Given the description of an element on the screen output the (x, y) to click on. 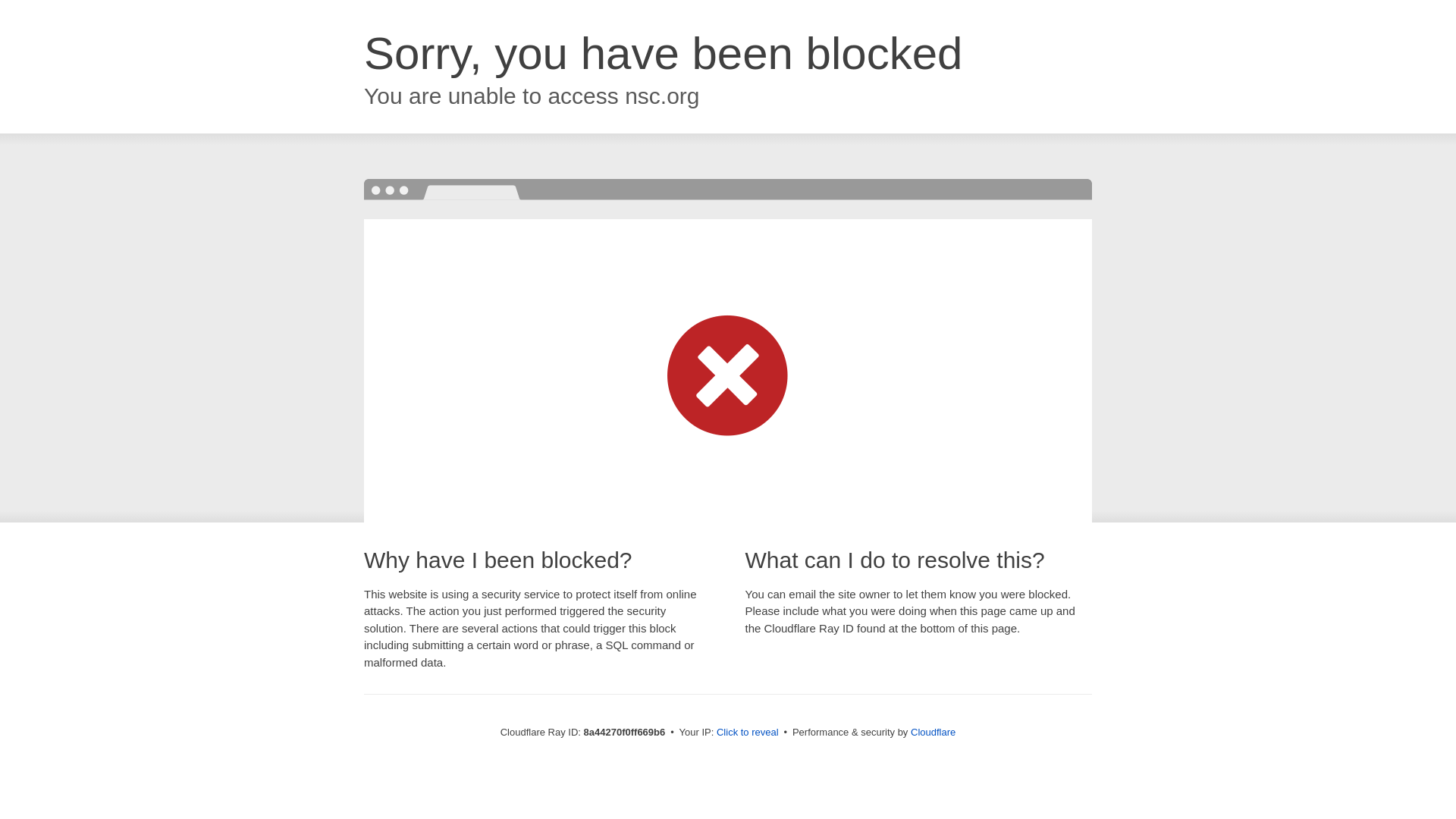
Cloudflare (933, 731)
Click to reveal (747, 732)
